Given the description of an element on the screen output the (x, y) to click on. 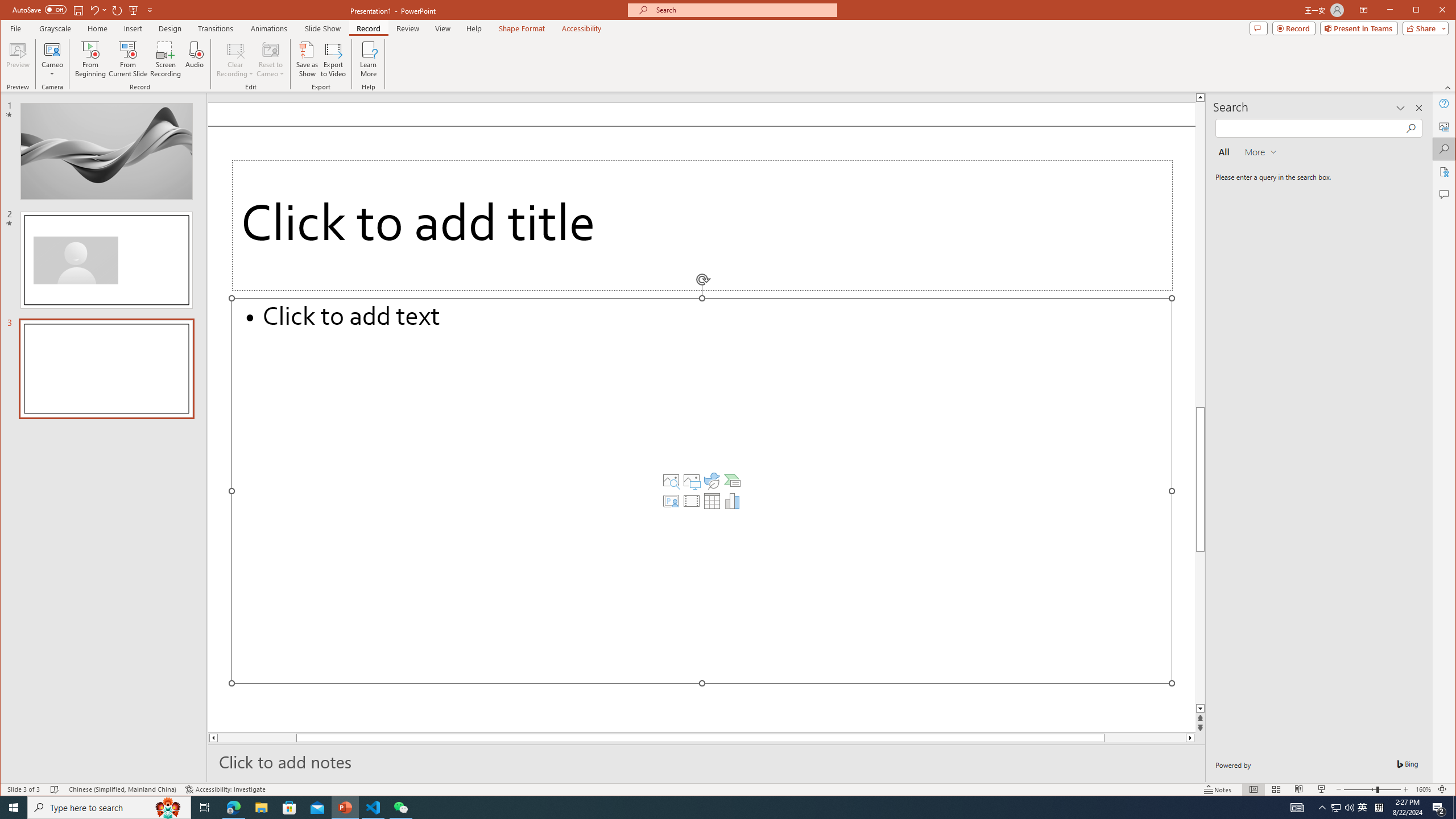
AutomationID: 4105 (1297, 807)
Present in Teams (1358, 28)
Insert an Icon (711, 480)
Customize Quick Access Toolbar (150, 9)
Quick Access Toolbar (83, 9)
Zoom to Fit  (1441, 789)
Design (170, 28)
Cameo (52, 59)
User Promoted Notification Area (1342, 807)
Search highlights icon opens search home window (167, 807)
File Explorer (261, 807)
Reading View (1298, 789)
